Given the description of an element on the screen output the (x, y) to click on. 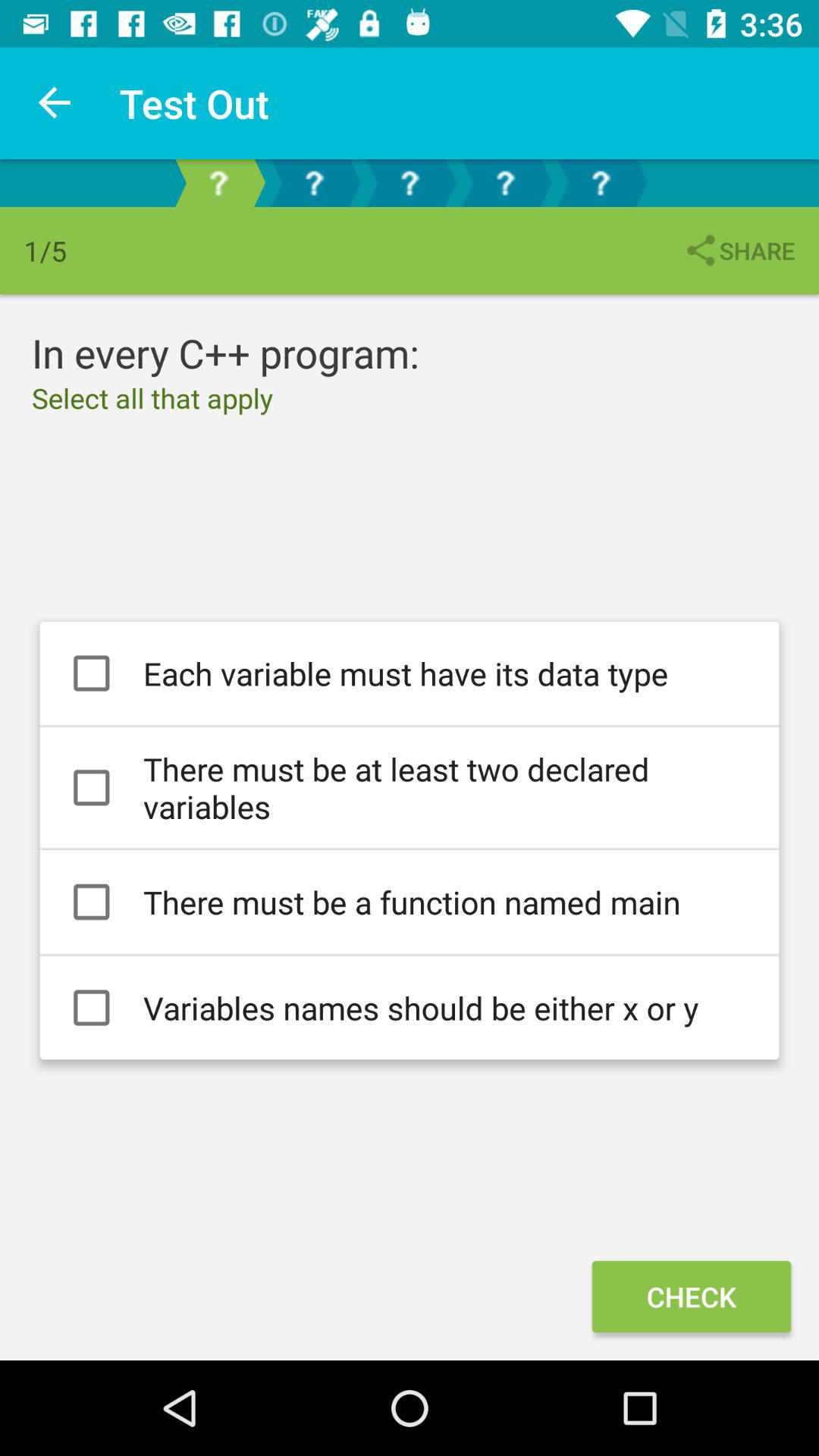
flip until the check icon (691, 1296)
